Given the description of an element on the screen output the (x, y) to click on. 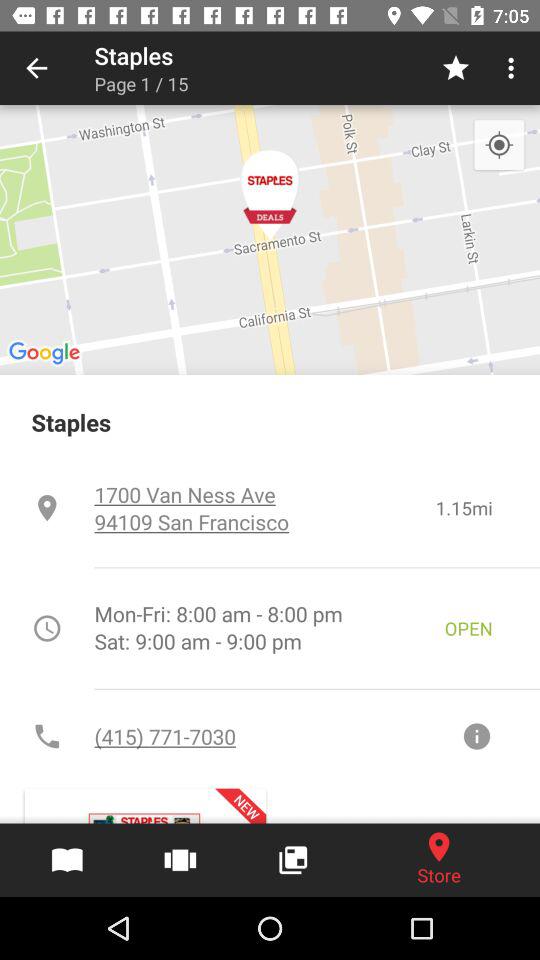
information (476, 736)
